Given the description of an element on the screen output the (x, y) to click on. 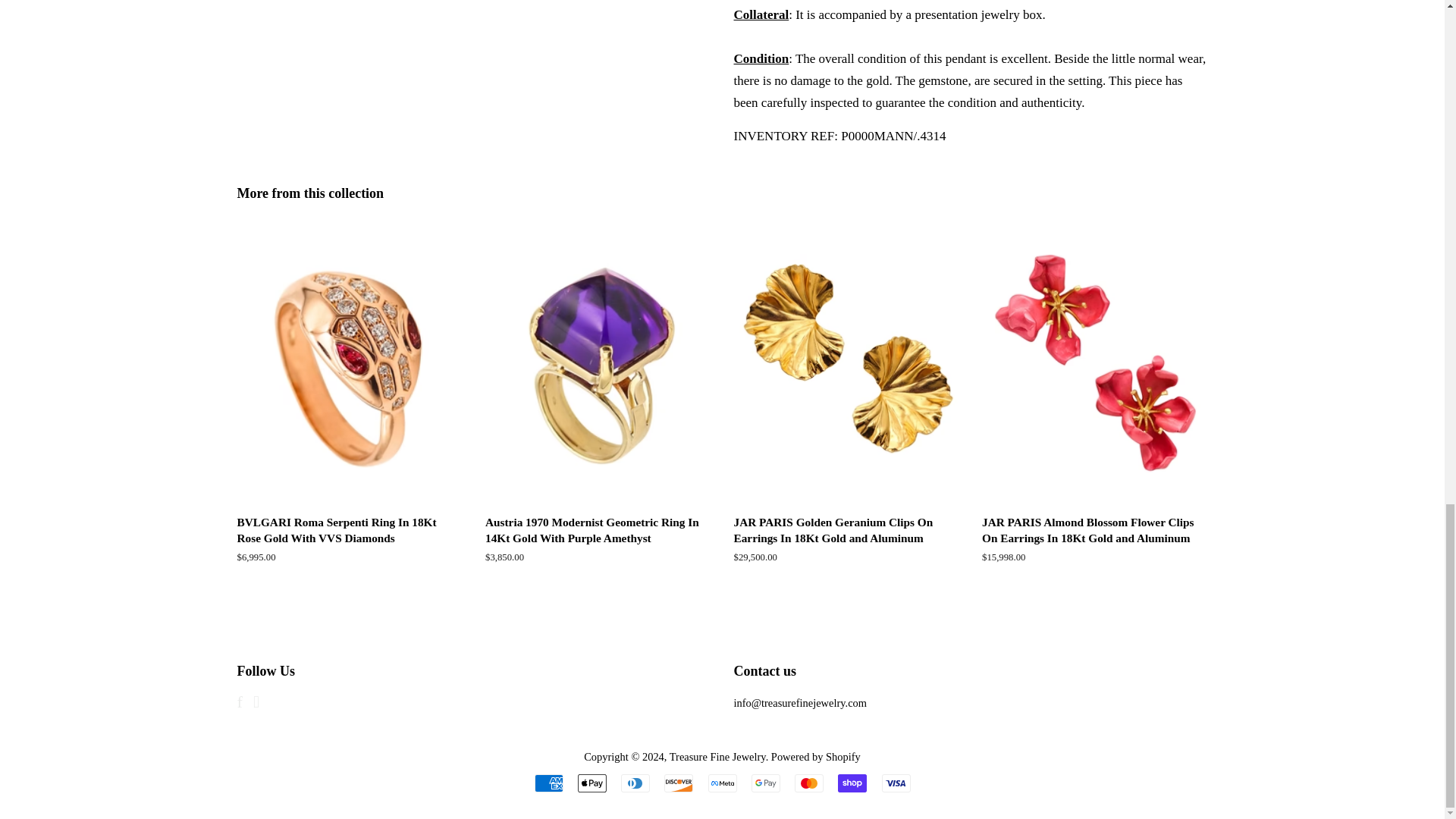
Treasure Fine Jewelry (717, 756)
Shop Pay (852, 782)
Meta Pay (721, 782)
Visa (895, 782)
Discover (678, 782)
Mastercard (809, 782)
American Express (548, 782)
Diners Club (635, 782)
Apple Pay (592, 782)
Google Pay (765, 782)
